Given the description of an element on the screen output the (x, y) to click on. 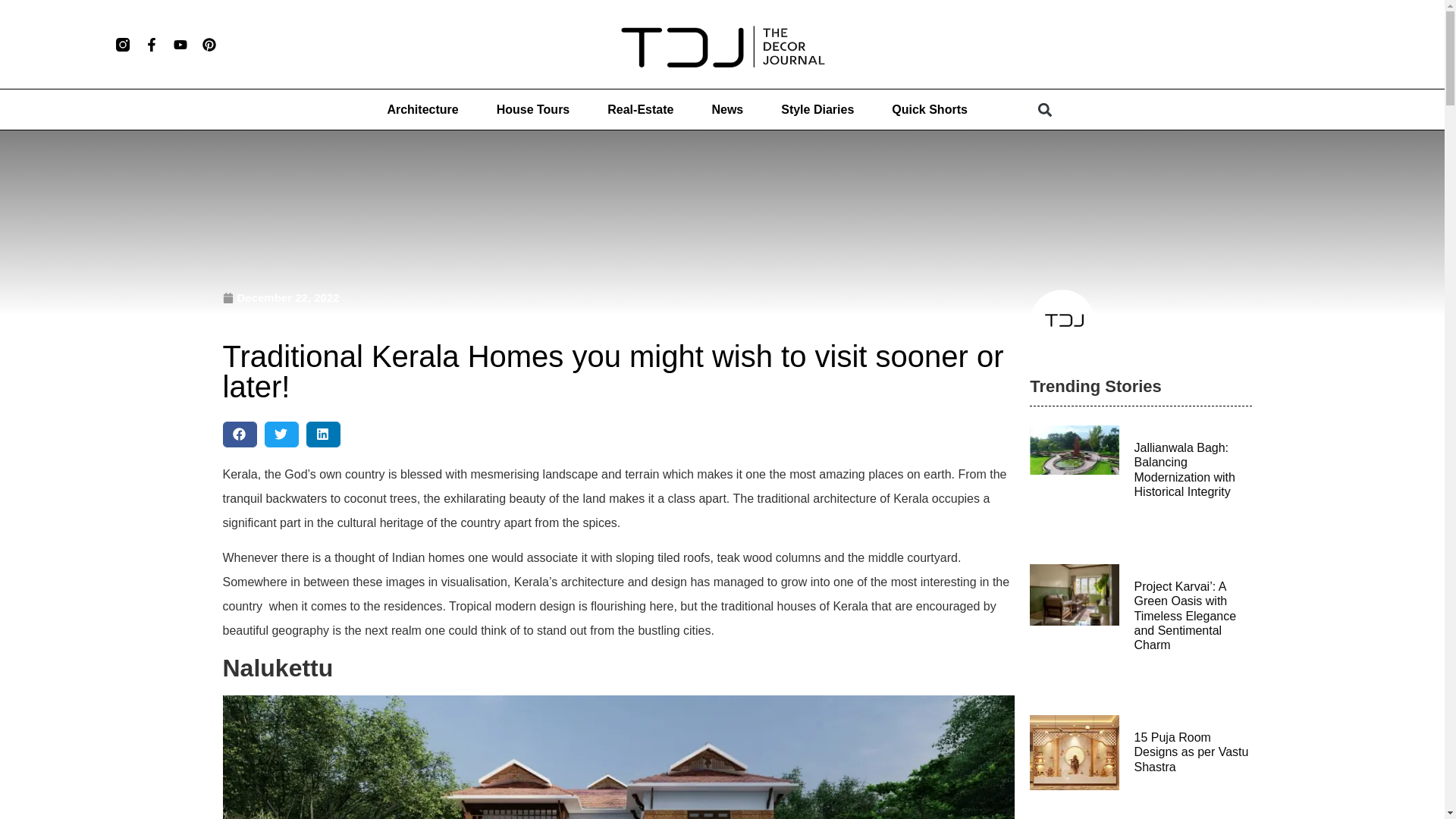
15 Puja Room Designs as per Vastu Shastra (1191, 752)
Quick Shorts (929, 109)
House Tours (533, 109)
Style Diaries (816, 109)
News (726, 109)
December 22, 2022 (280, 298)
Real-Estate (639, 109)
Architecture (422, 109)
